Given the description of an element on the screen output the (x, y) to click on. 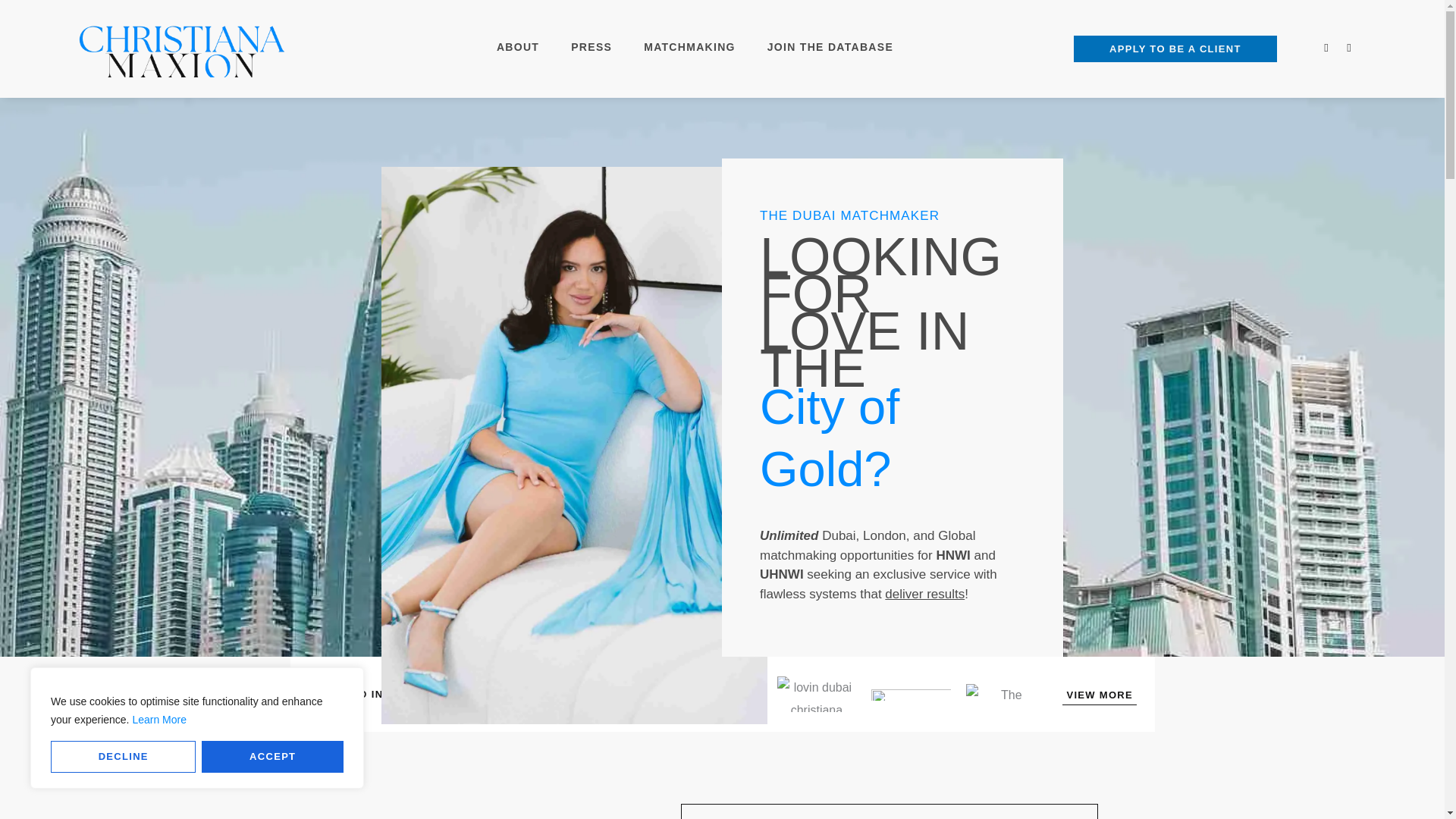
JOIN THE DATABASE (829, 46)
DECLINE (122, 757)
PRESS (590, 46)
ABOUT (517, 46)
Learn More (159, 719)
MATCHMAKING (689, 46)
APPLY TO BE A CLIENT (1175, 49)
ACCEPT (272, 757)
